Given the description of an element on the screen output the (x, y) to click on. 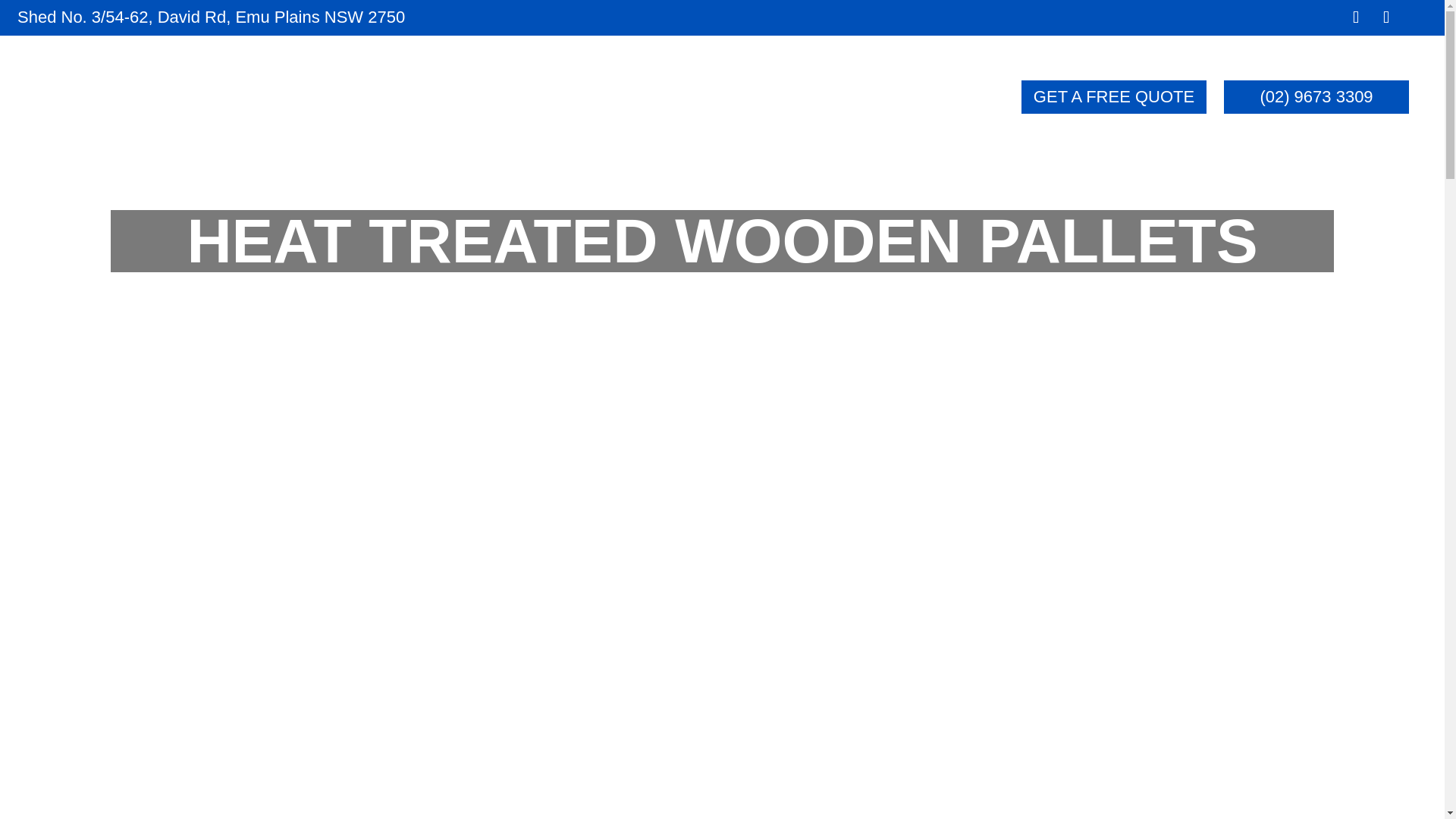
Shed No. 3/54-62, David Rd, Emu Plains NSW 2750 Element type: text (210, 16)
ABOUT Element type: text (450, 99)
GET A FREE QUOTE Element type: text (1113, 96)
Seuraa Instagram Element type: hover (1386, 17)
(02) 9673 3309 Element type: text (1315, 96)
CONTACT Element type: text (900, 99)
GALLERY Element type: text (757, 99)
PRODUCTS Element type: text (598, 99)
Seuraa Facebook Element type: hover (1355, 17)
HOME Element type: text (337, 99)
